Given the description of an element on the screen output the (x, y) to click on. 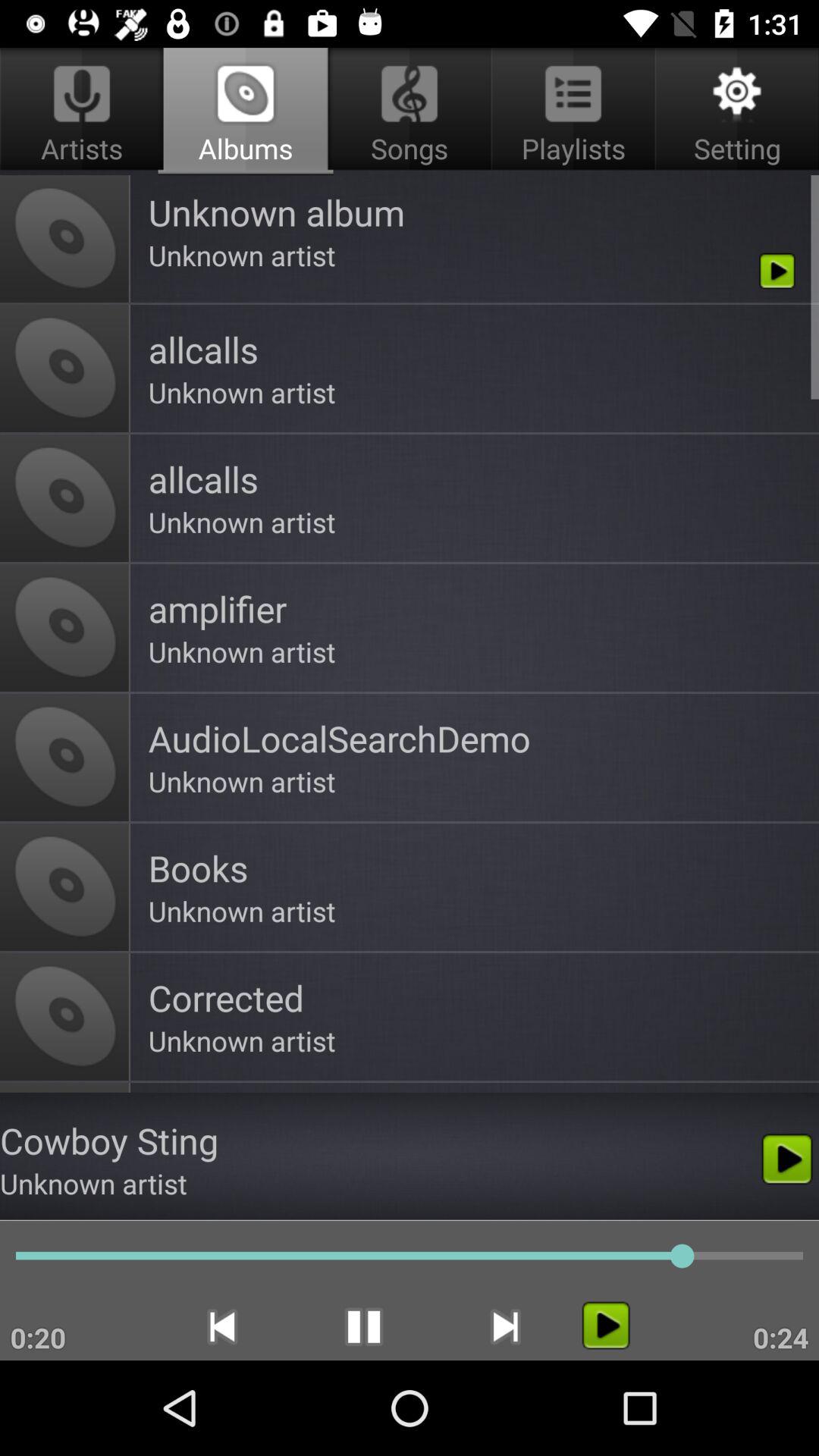
click the icon to the left of songs (84, 111)
